Given the description of an element on the screen output the (x, y) to click on. 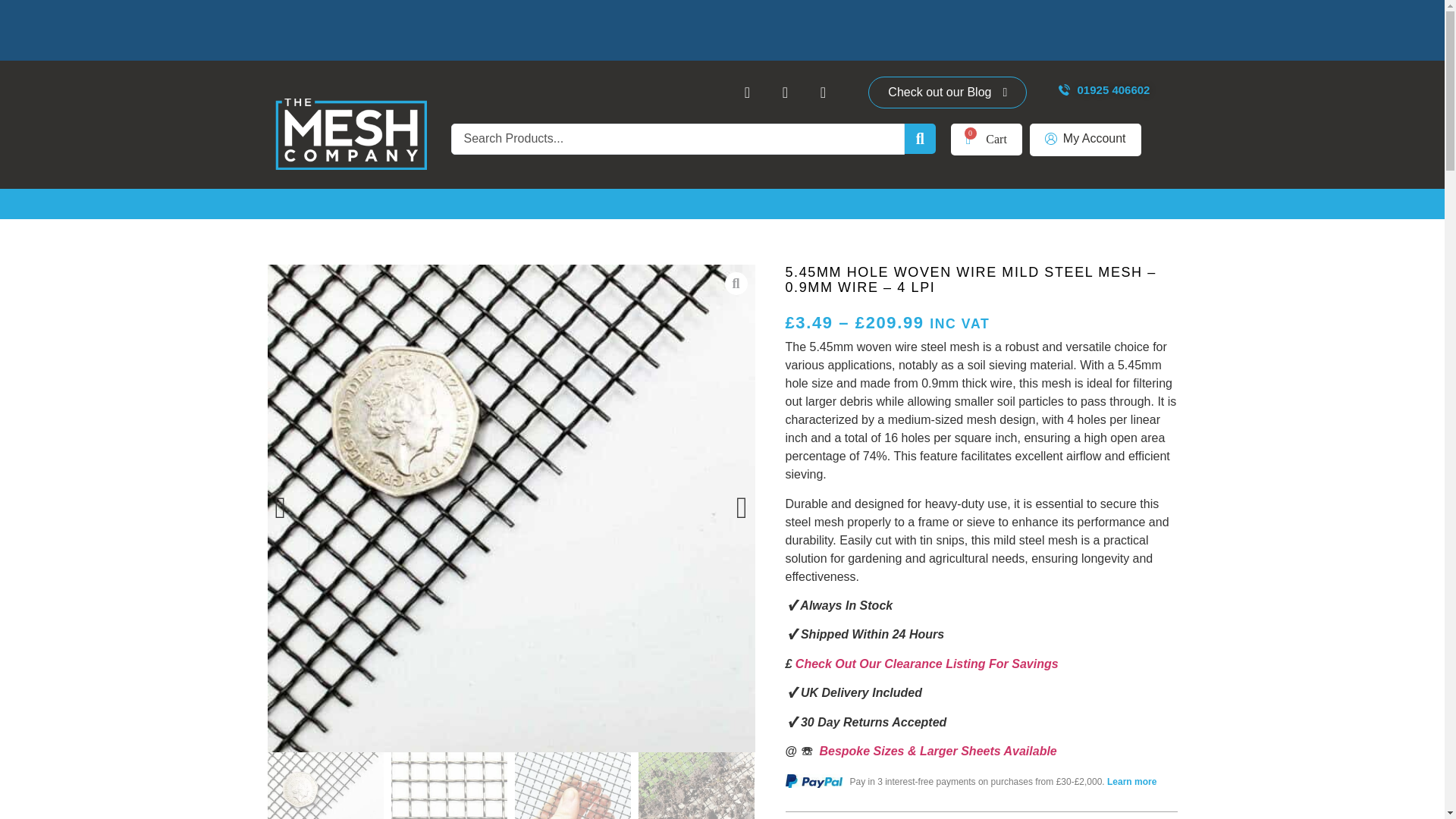
01925 406602 (1104, 90)
5.45mm Hole Woven Wire Mild Steel Mesh - 0.9mm Wire - 4 LPI (324, 785)
Check out our Blog (946, 92)
0 (986, 139)
My Account (1085, 139)
